Given the description of an element on the screen output the (x, y) to click on. 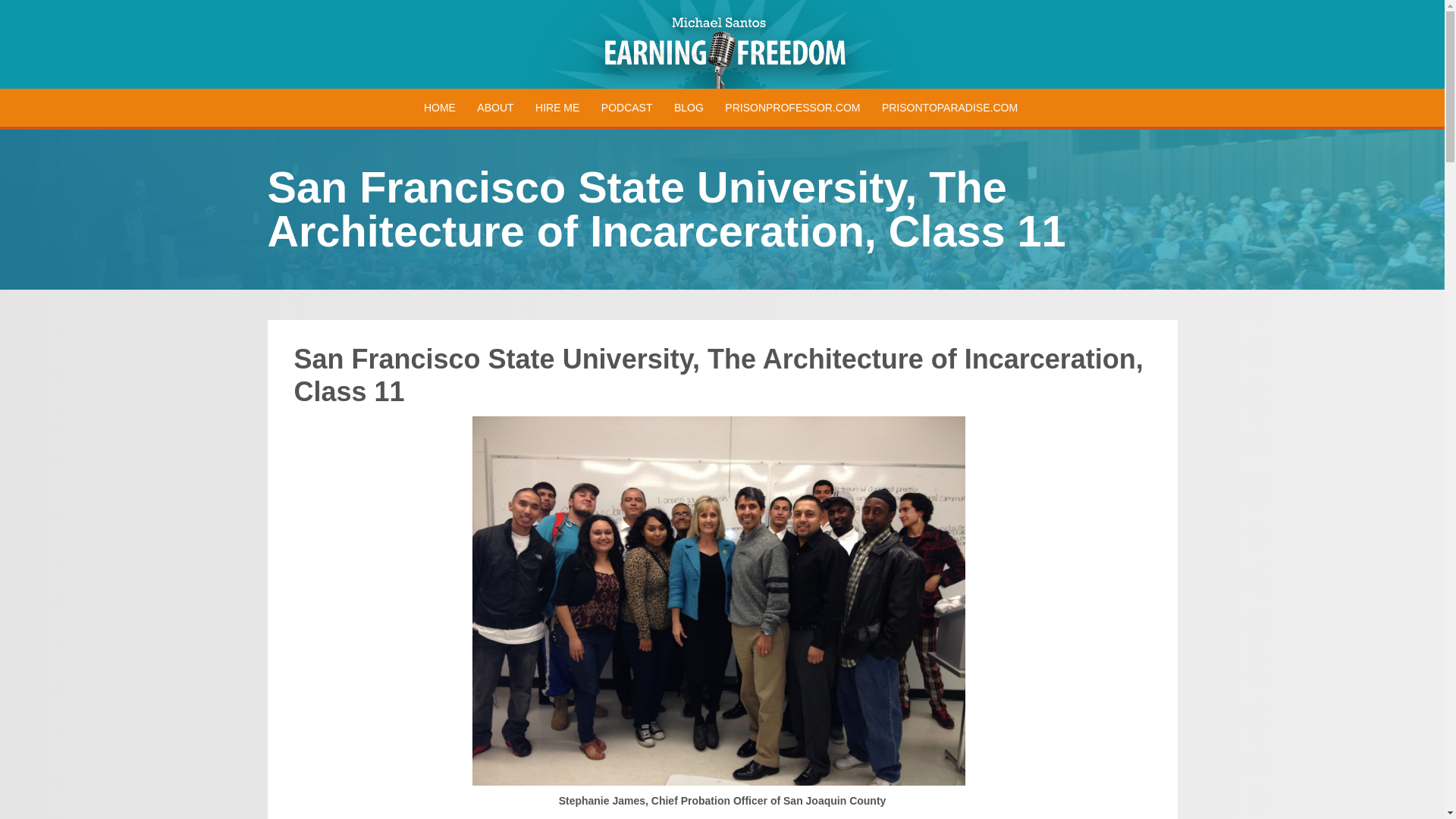
BLOG (688, 107)
HIRE ME (556, 107)
PODCAST (627, 107)
PRISONPROFESSOR.COM (792, 107)
PRISONTOPARADISE.COM (948, 107)
ABOUT (494, 107)
HOME (439, 107)
